Given the description of an element on the screen output the (x, y) to click on. 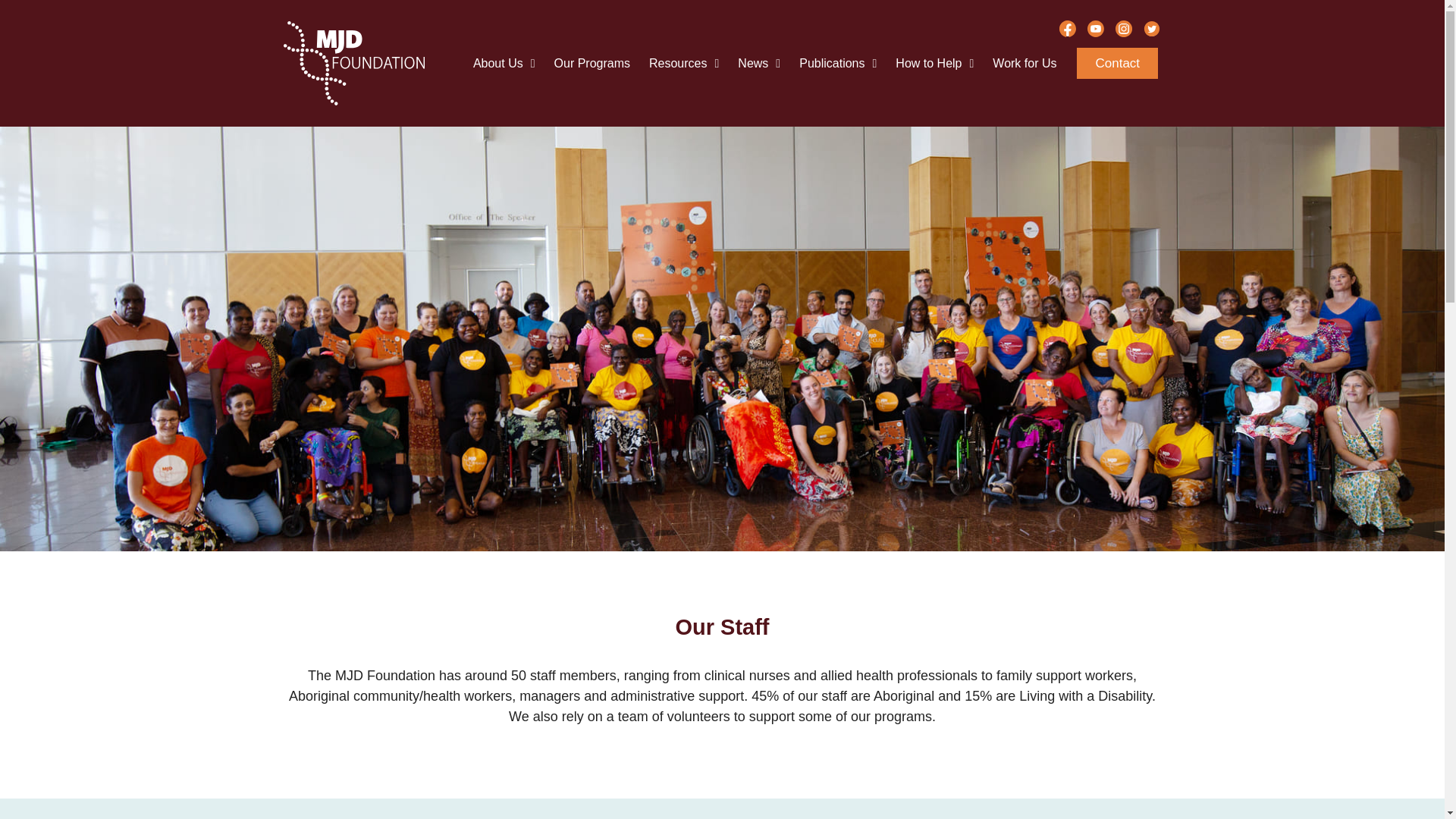
News (759, 63)
How to Help (934, 63)
Publications (837, 63)
Work for Us (1024, 63)
Resources (684, 63)
Our Programs (592, 63)
About Us (504, 63)
